Given the description of an element on the screen output the (x, y) to click on. 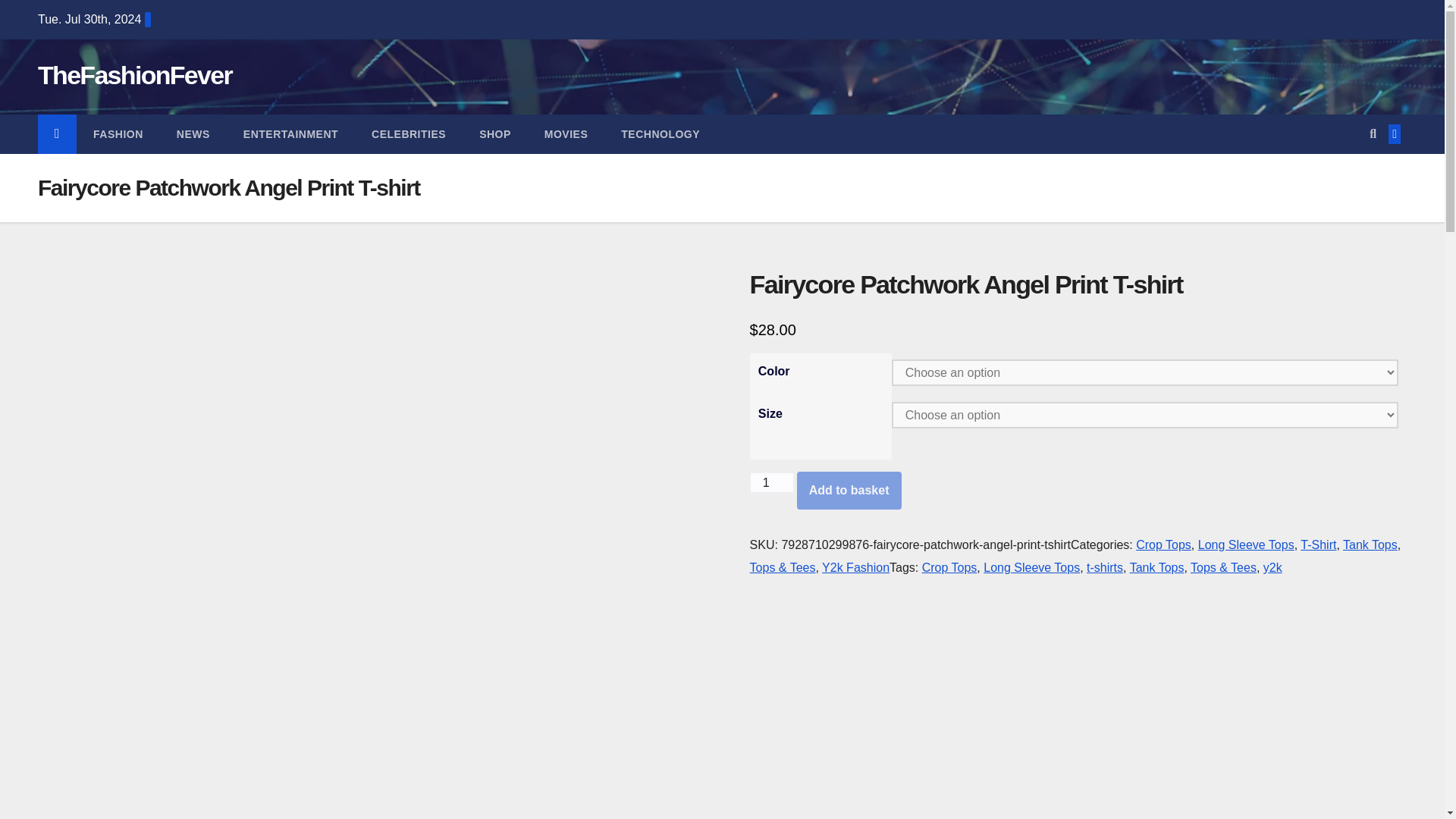
Long Sleeve Tops (1032, 567)
Long Sleeve Tops (1246, 544)
CELEBRITIES (409, 133)
TheFashionFever (134, 74)
NEWS (193, 133)
ENTERTAINMENT (291, 133)
Shop (495, 133)
ENTERTAINMENT (291, 133)
Fashion (118, 133)
Crop Tops (1163, 544)
FASHION (118, 133)
Crop Tops (948, 567)
1 (771, 482)
Y2k Fashion (855, 567)
TECHNOLOGY (660, 133)
